Given the description of an element on the screen output the (x, y) to click on. 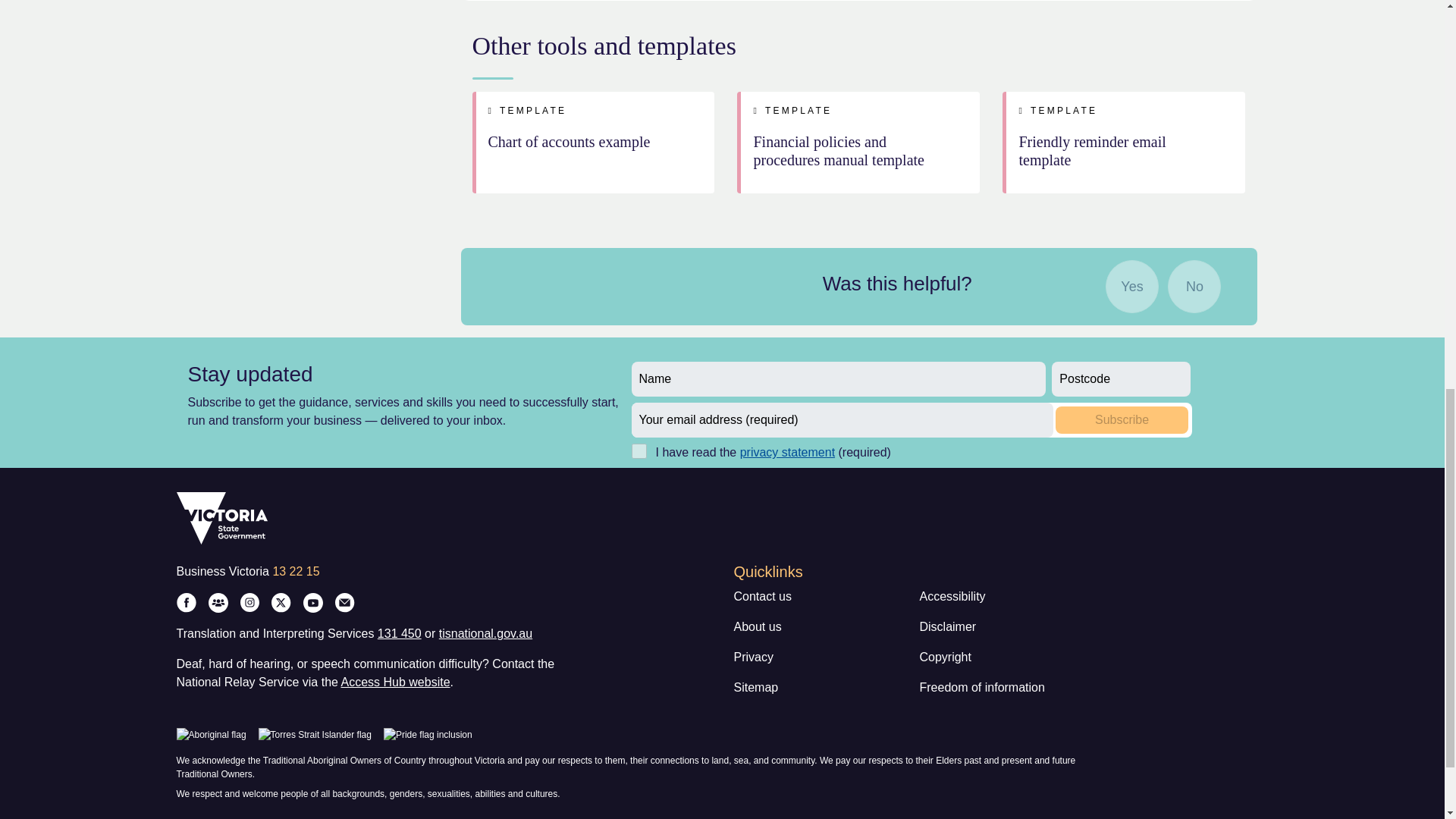
on (638, 450)
Link opens in a new window (786, 451)
